Given the description of an element on the screen output the (x, y) to click on. 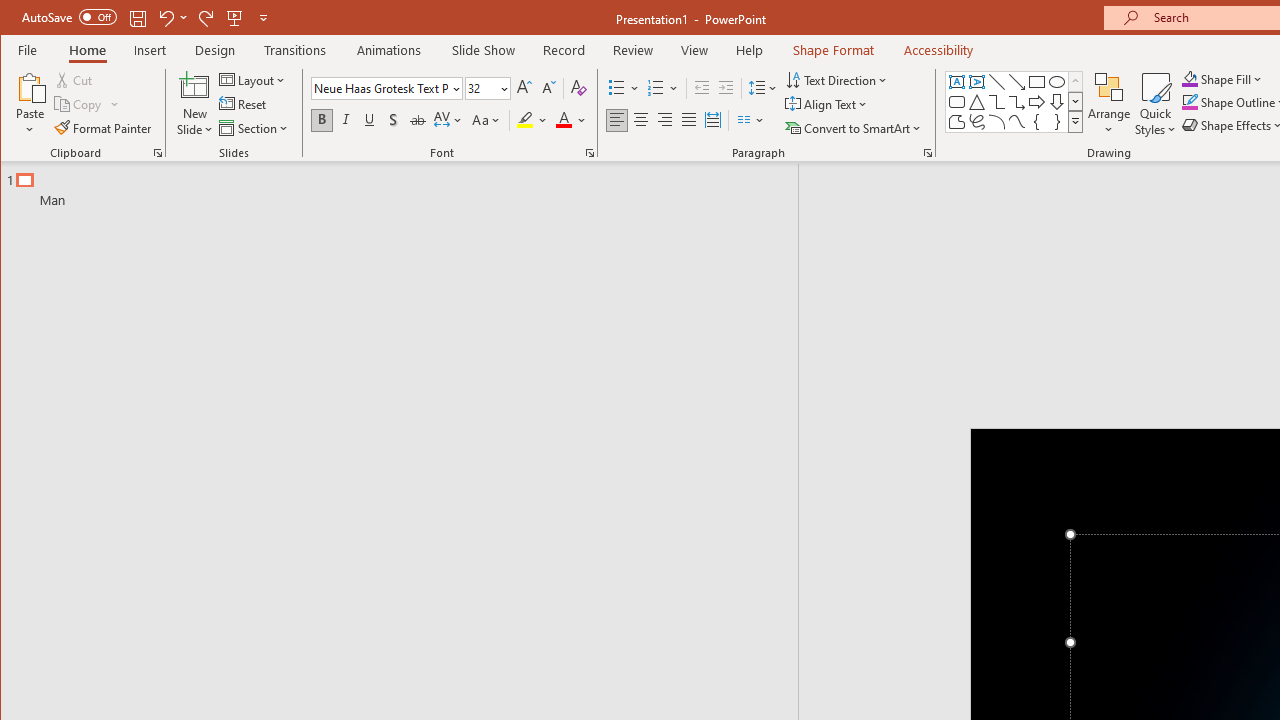
Italic (346, 119)
Arc (996, 121)
Arrange (1108, 104)
Bold (321, 119)
Line Arrow (1016, 82)
Section (255, 127)
Vertical Text Box (976, 82)
Arrow: Down (1057, 102)
Connector: Elbow Arrow (1016, 102)
Line Spacing (764, 88)
Connector: Elbow (996, 102)
